Given the description of an element on the screen output the (x, y) to click on. 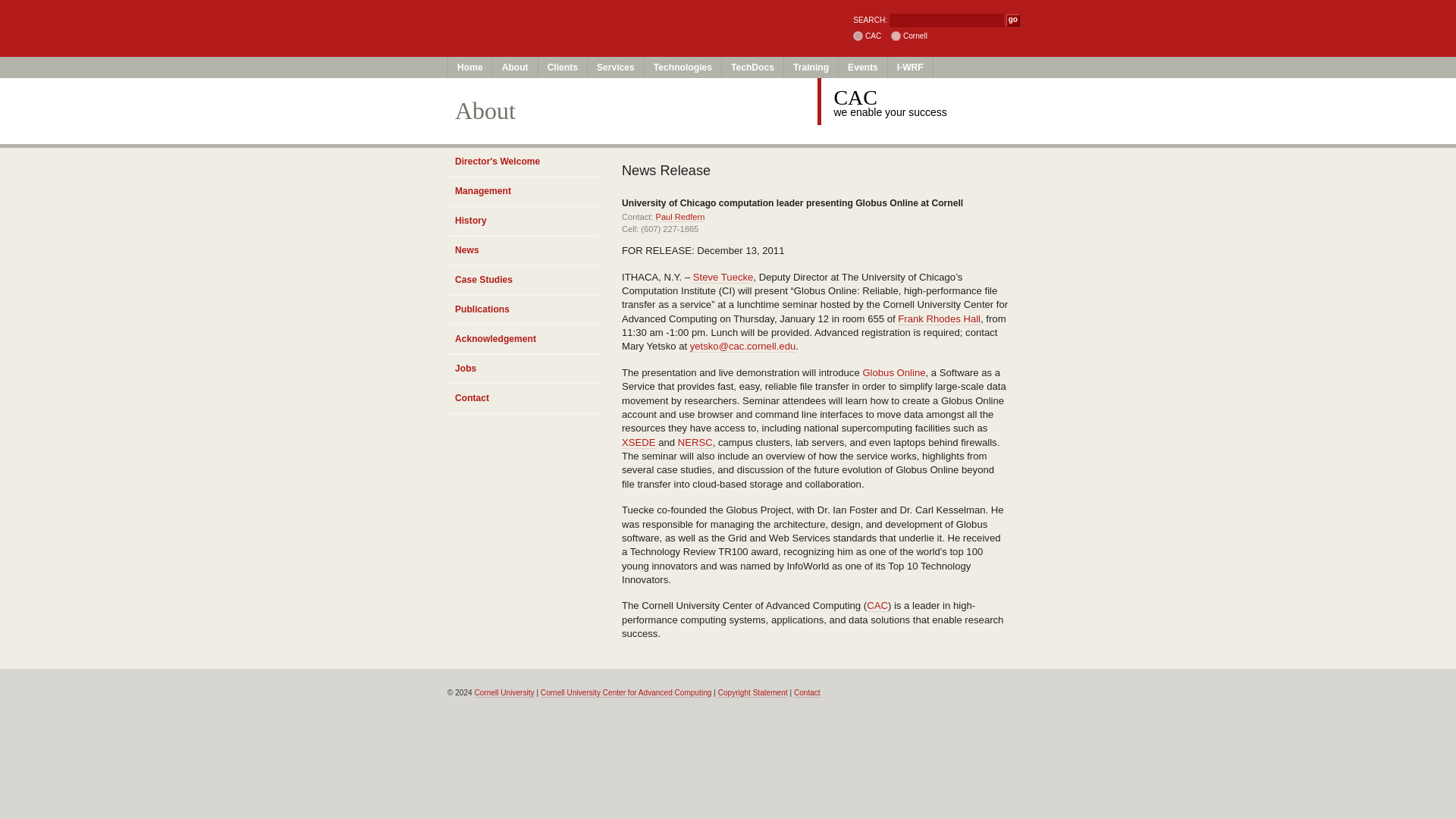
Contact (807, 692)
Copyright Statement (752, 692)
Jobs (522, 369)
CAC (877, 605)
Frank Rhodes Hall (938, 318)
Publications (522, 310)
Case Studies (522, 280)
Acknowledgement (522, 339)
Cornell University (585, 14)
Paul Redfern (679, 216)
